Given the description of an element on the screen output the (x, y) to click on. 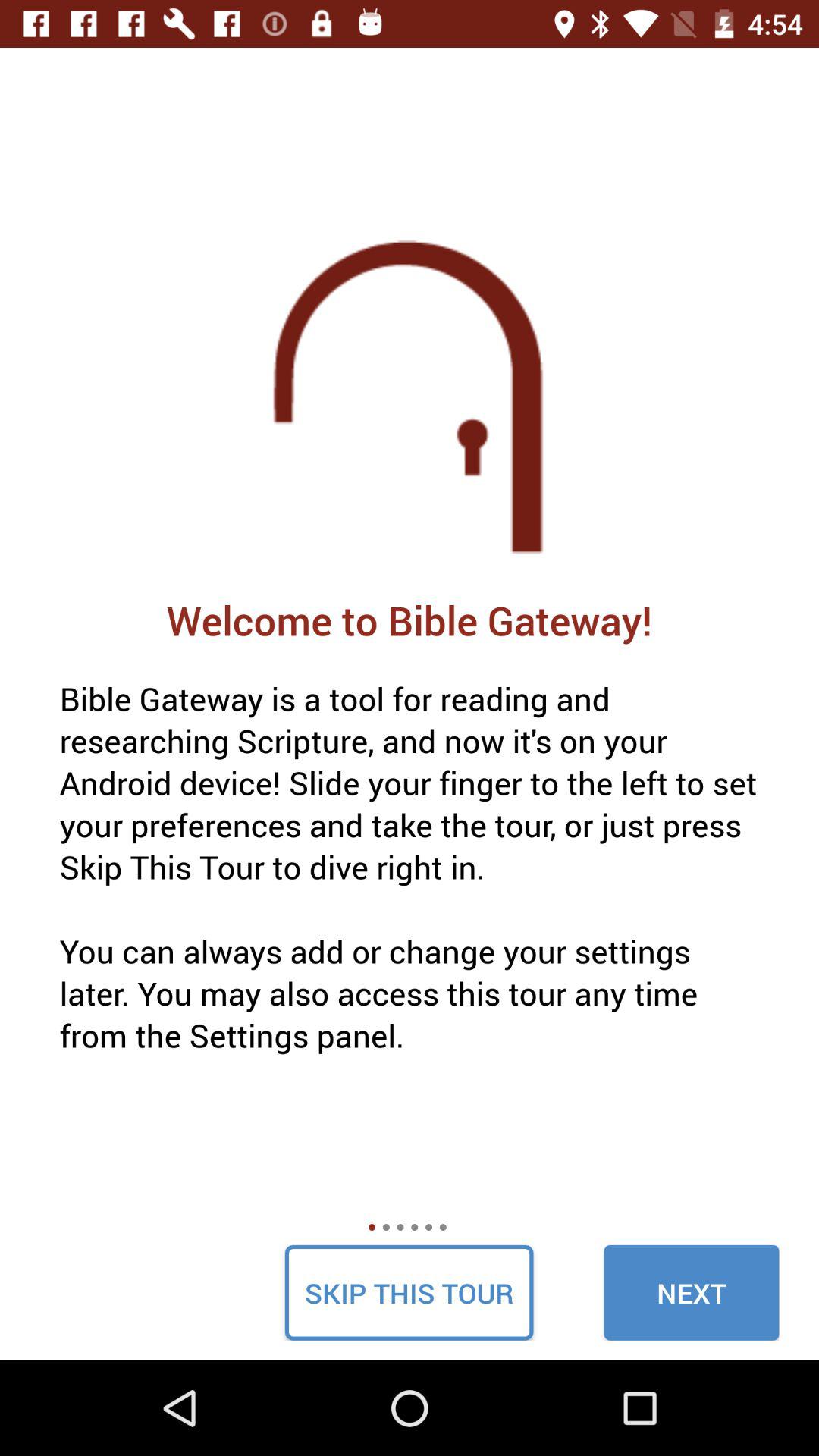
open the icon next to next (408, 1292)
